Given the description of an element on the screen output the (x, y) to click on. 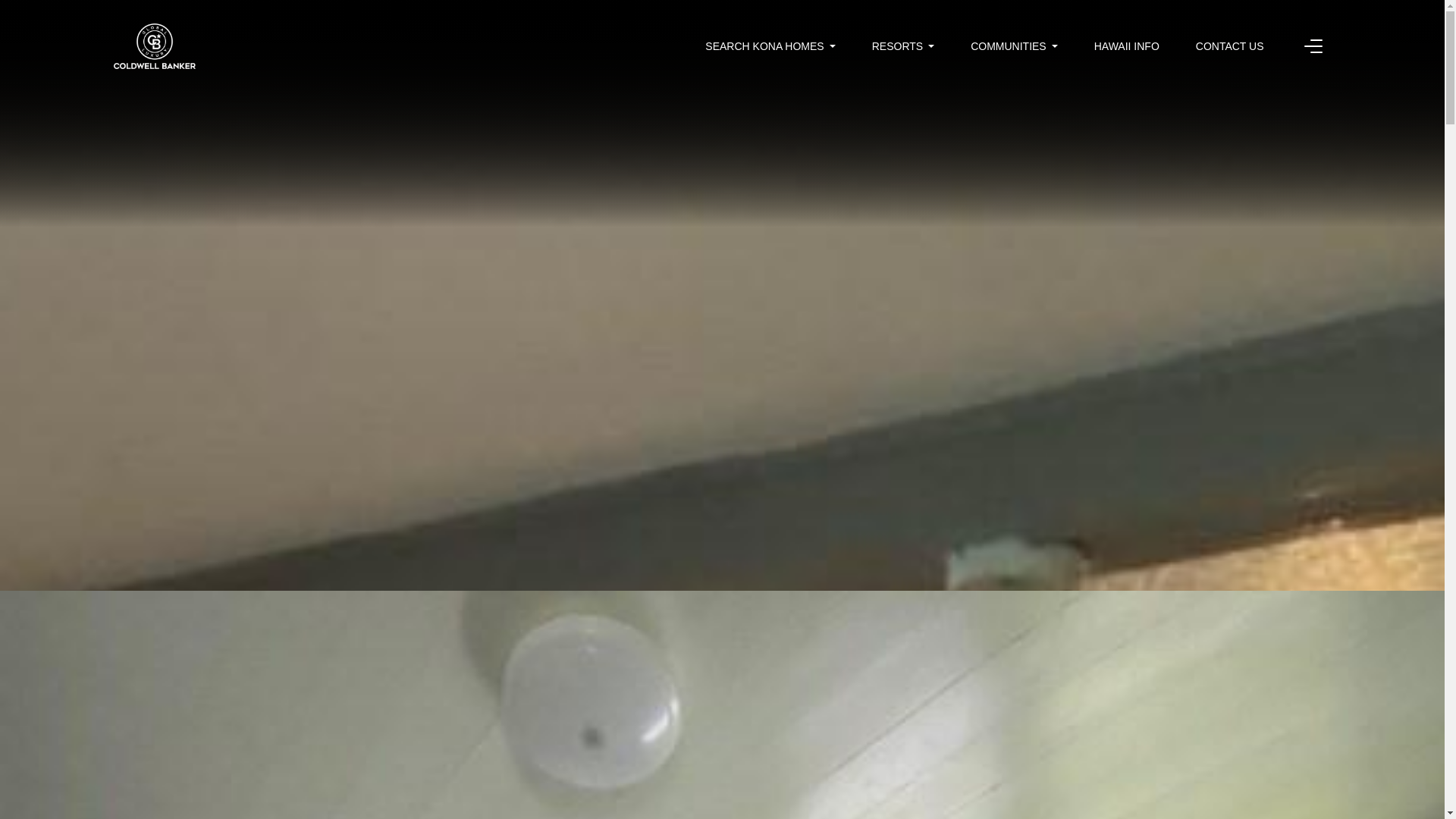
SEARCH KONA HOMES (769, 46)
COMMUNITIES (1014, 46)
CONTACT US (1229, 46)
RESORTS (903, 46)
HAWAII INFO (1126, 46)
